Given the description of an element on the screen output the (x, y) to click on. 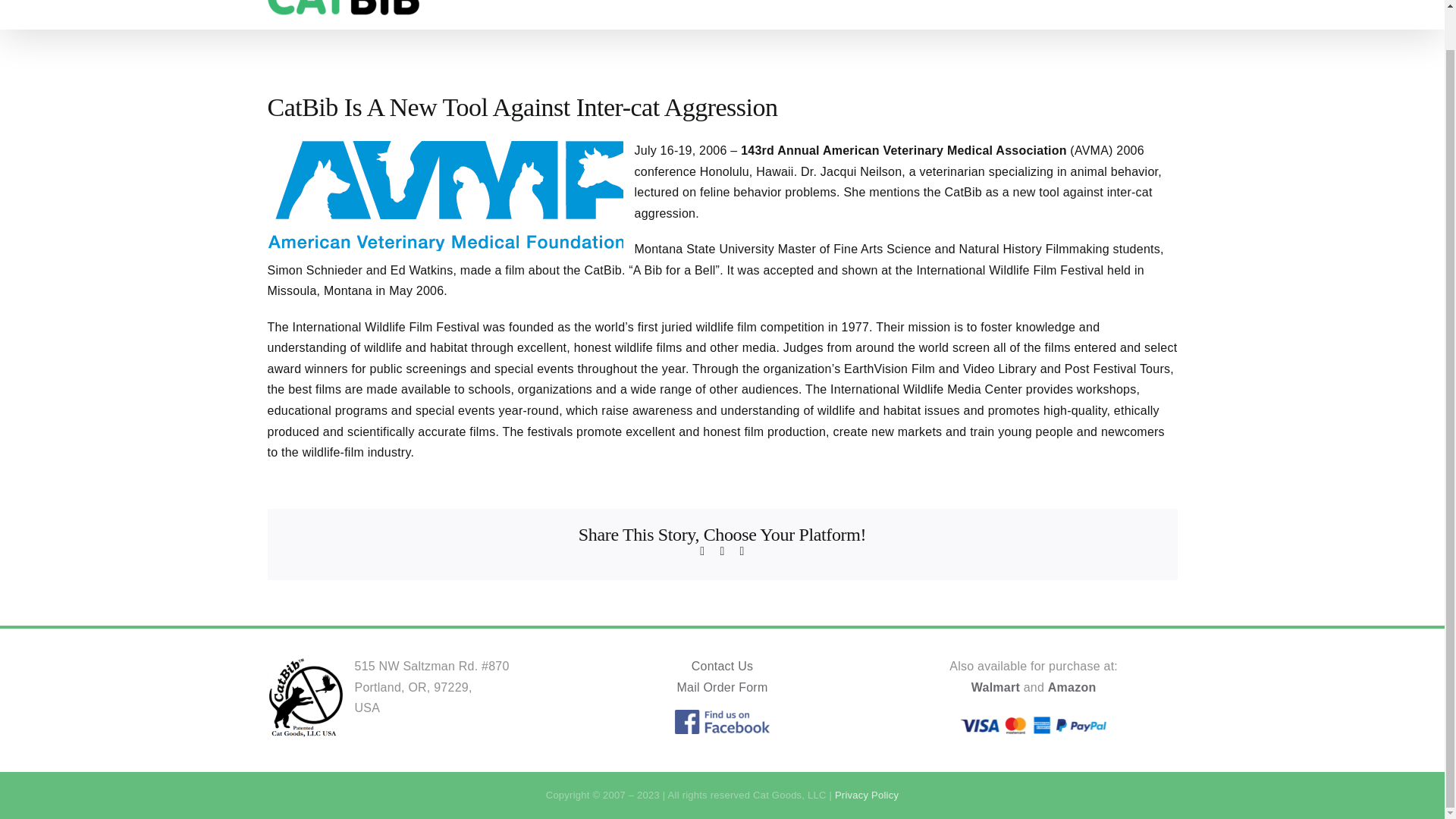
International Wildlife Film Festival (1009, 269)
CATBIB INFORMATION (622, 14)
CatBib Information (622, 14)
CatBib Customer Testimonials (896, 14)
Contact Us (722, 666)
Walmart (995, 686)
Scientific Proof (769, 14)
HOME  (510, 14)
SHOP (1119, 14)
SCIENTIFIC PROOF (769, 14)
PRESS COVERAGE (1023, 14)
TESTIMONIALS (896, 14)
Amazon (1072, 686)
HOME (510, 14)
CatBib in the News (1023, 14)
